Given the description of an element on the screen output the (x, y) to click on. 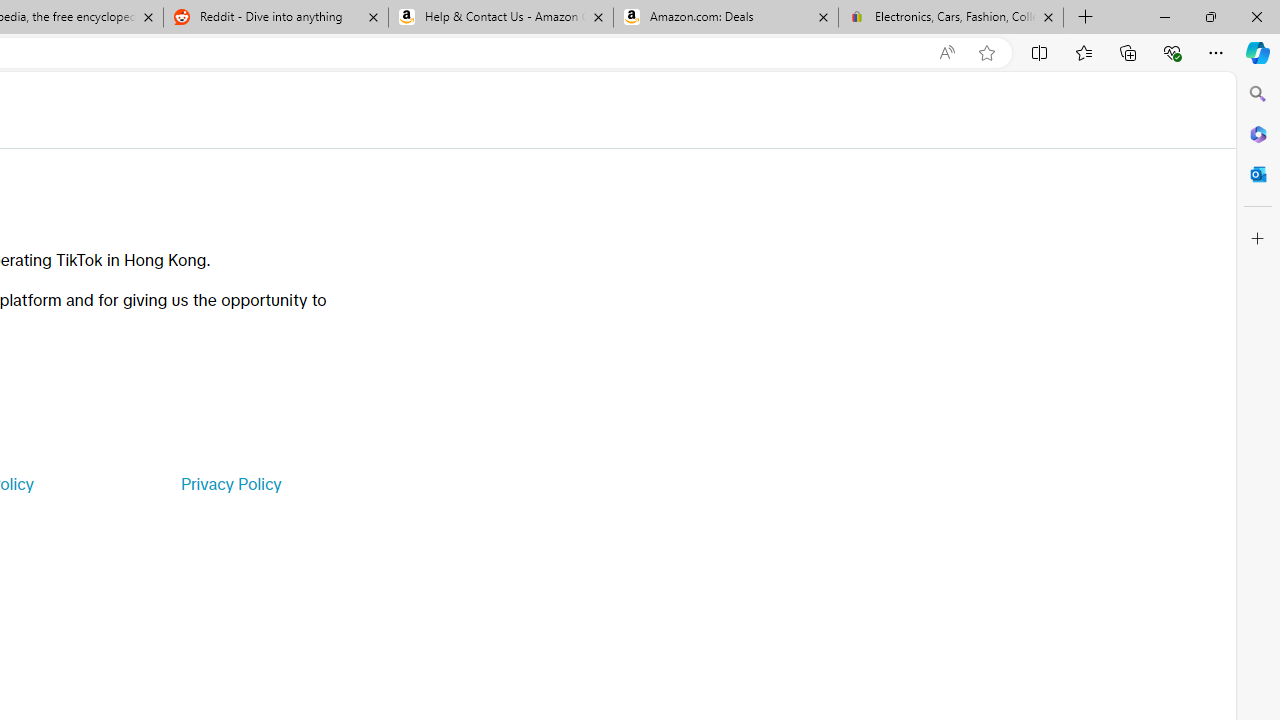
Privacy Policy (230, 484)
